Given the description of an element on the screen output the (x, y) to click on. 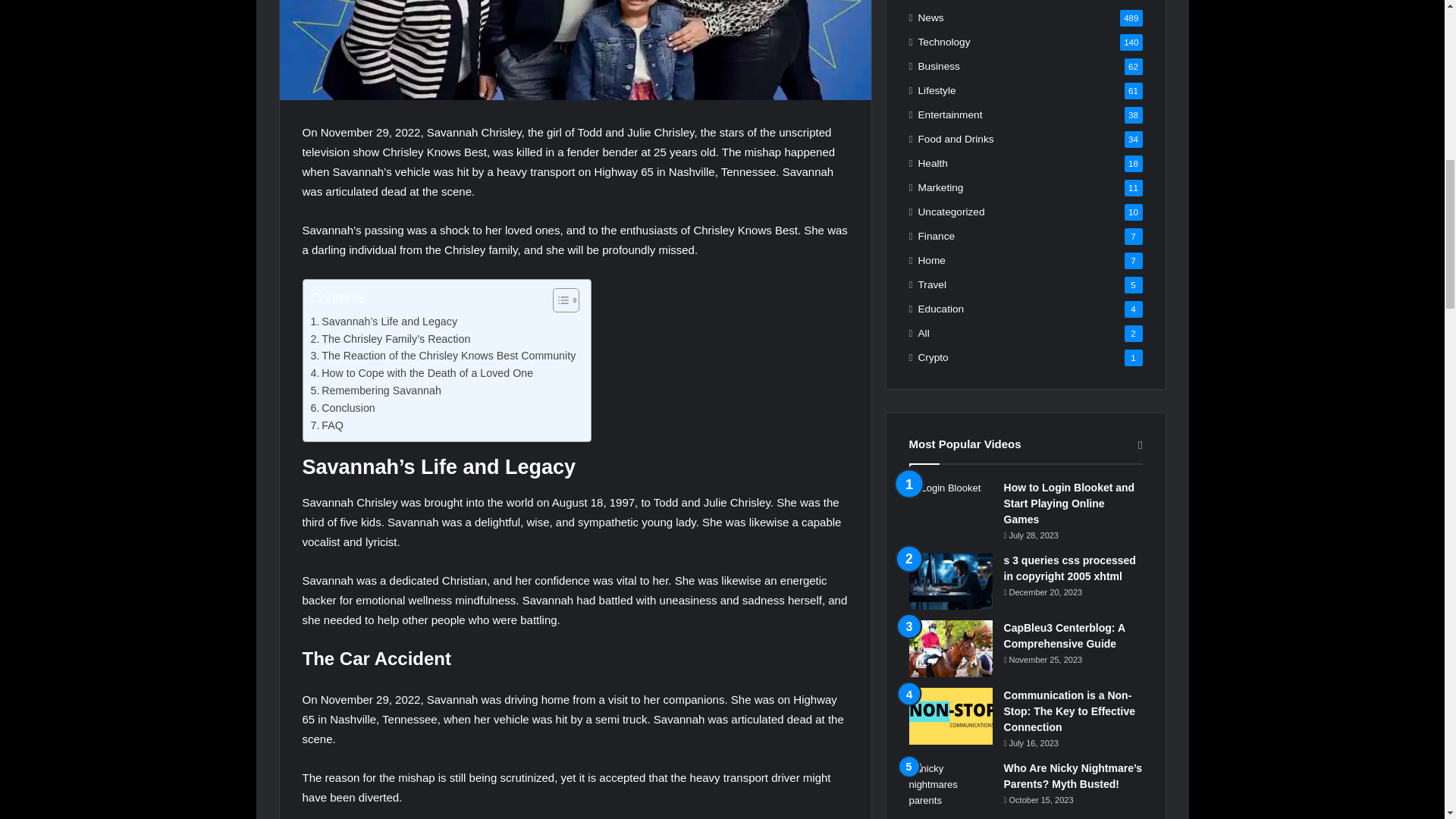
The Reaction of the Chrisley Knows Best Community (443, 355)
Conclusion (343, 407)
Remembering Savannah (376, 390)
How to Cope with the Death of a Loved One (422, 373)
FAQ (327, 425)
